Given the description of an element on the screen output the (x, y) to click on. 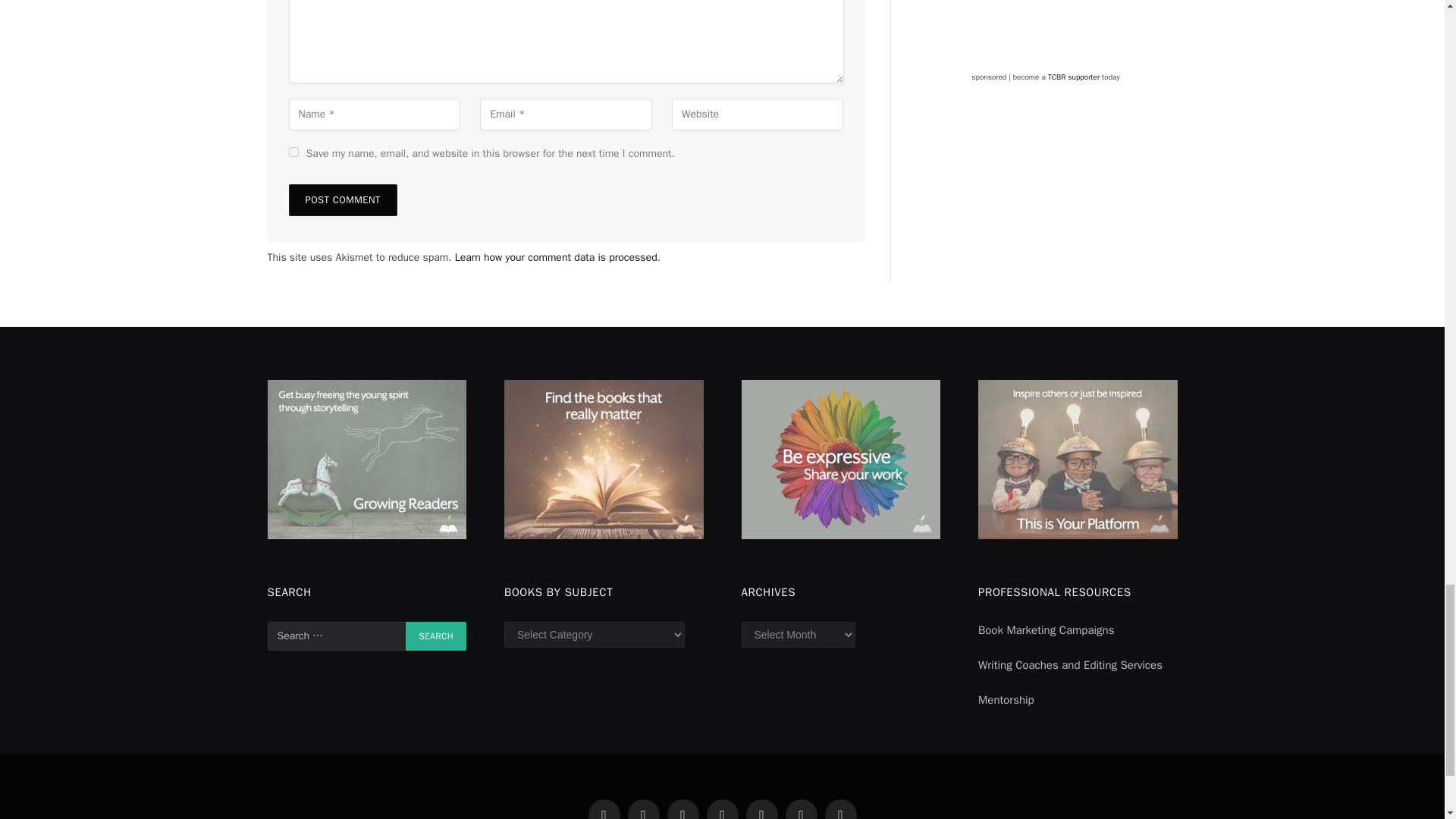
yes (293, 152)
Search (435, 635)
Post Comment (342, 200)
Search (435, 635)
